Given the description of an element on the screen output the (x, y) to click on. 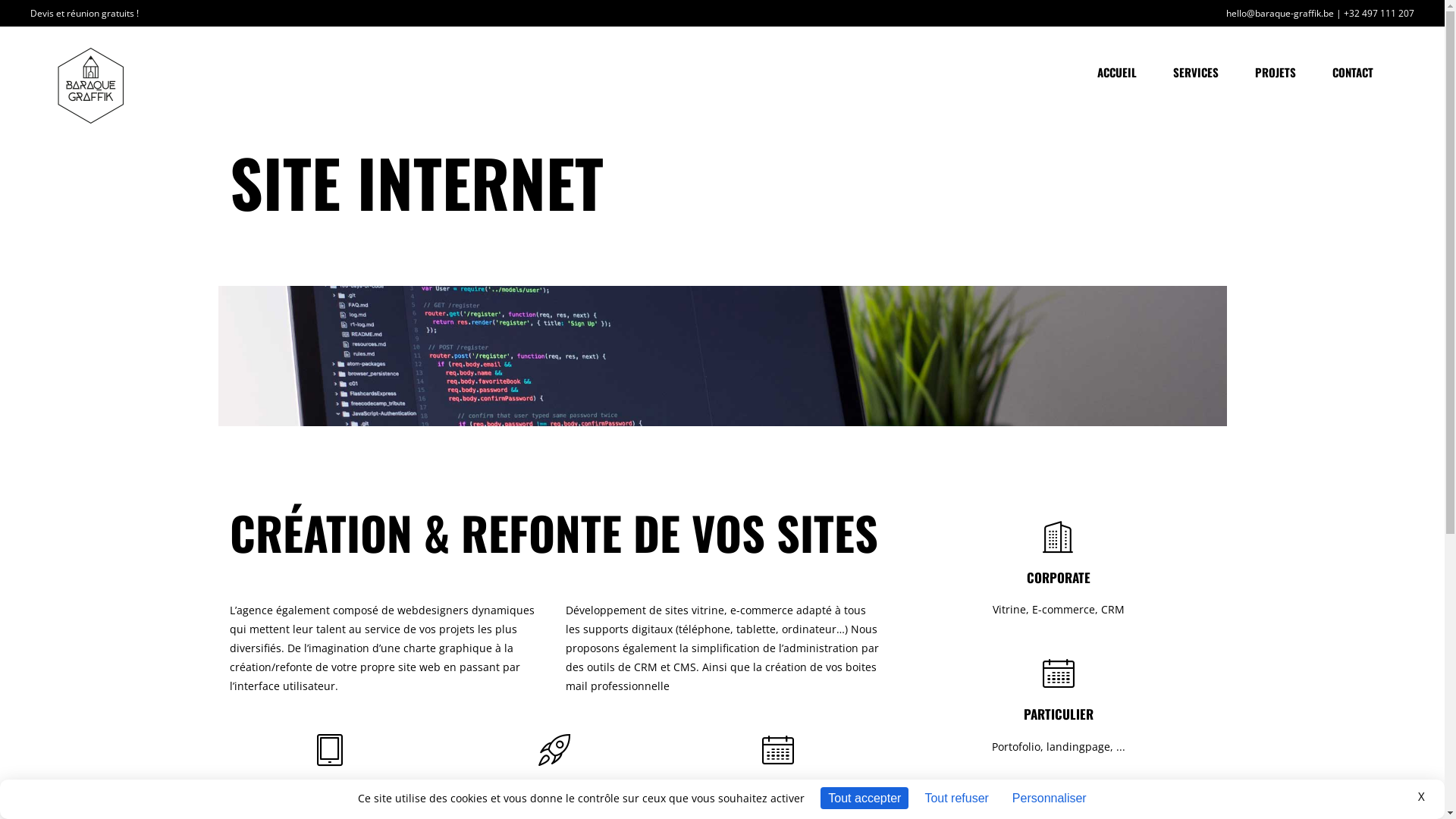
ACCUEIL Element type: text (1116, 72)
+32 497 111 207 Element type: text (1378, 12)
Tout refuser Element type: text (955, 798)
hello@baraque-graffik.be Element type: text (1279, 12)
PROJETS Element type: text (1275, 72)
Personnaliser Element type: text (1049, 798)
SERVICES Element type: text (1195, 72)
Tout accepter Element type: text (864, 798)
CONTACT Element type: text (1352, 72)
